Given the description of an element on the screen output the (x, y) to click on. 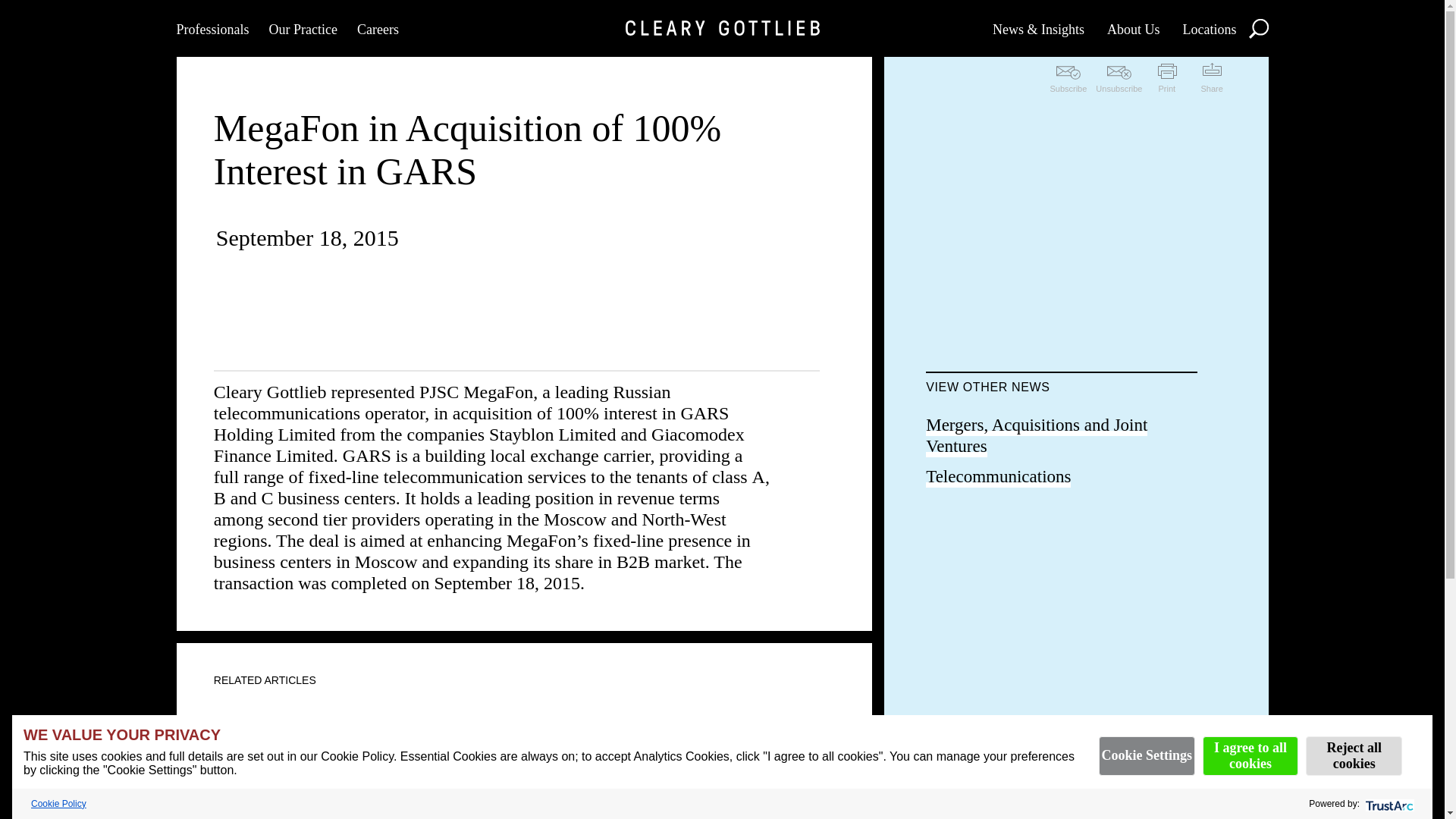
About Us (1133, 28)
Home (721, 28)
Search (1257, 27)
Locations (1209, 28)
Locations (1209, 28)
Our Practice (301, 28)
Professionals (212, 28)
Professionals (212, 28)
Our Practice (301, 28)
About Us (1133, 28)
